Given the description of an element on the screen output the (x, y) to click on. 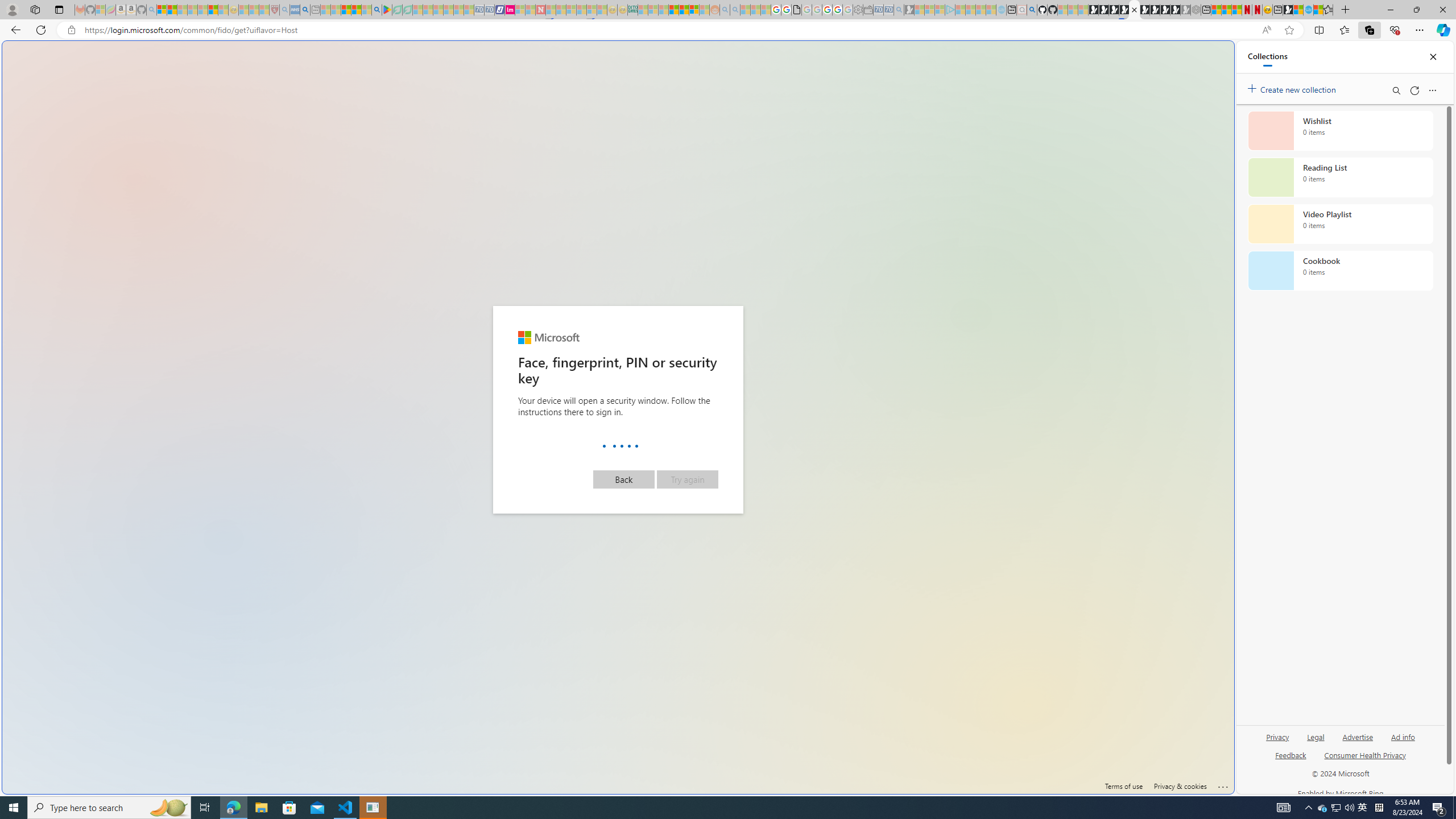
Try again (686, 479)
Close split screen (1208, 57)
Terms of Use Agreement - Sleeping (397, 9)
